Given the description of an element on the screen output the (x, y) to click on. 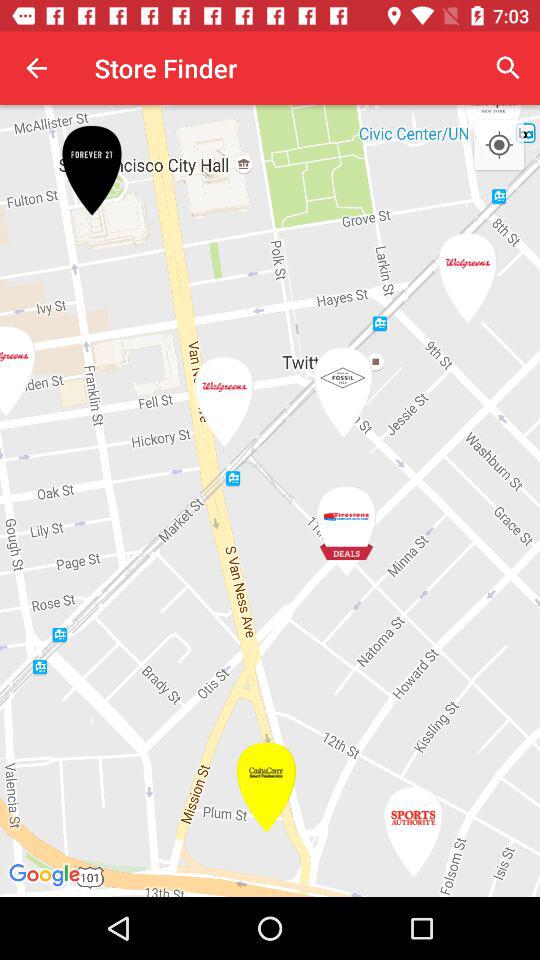
turn on item to the right of store finder item (508, 67)
